Given the description of an element on the screen output the (x, y) to click on. 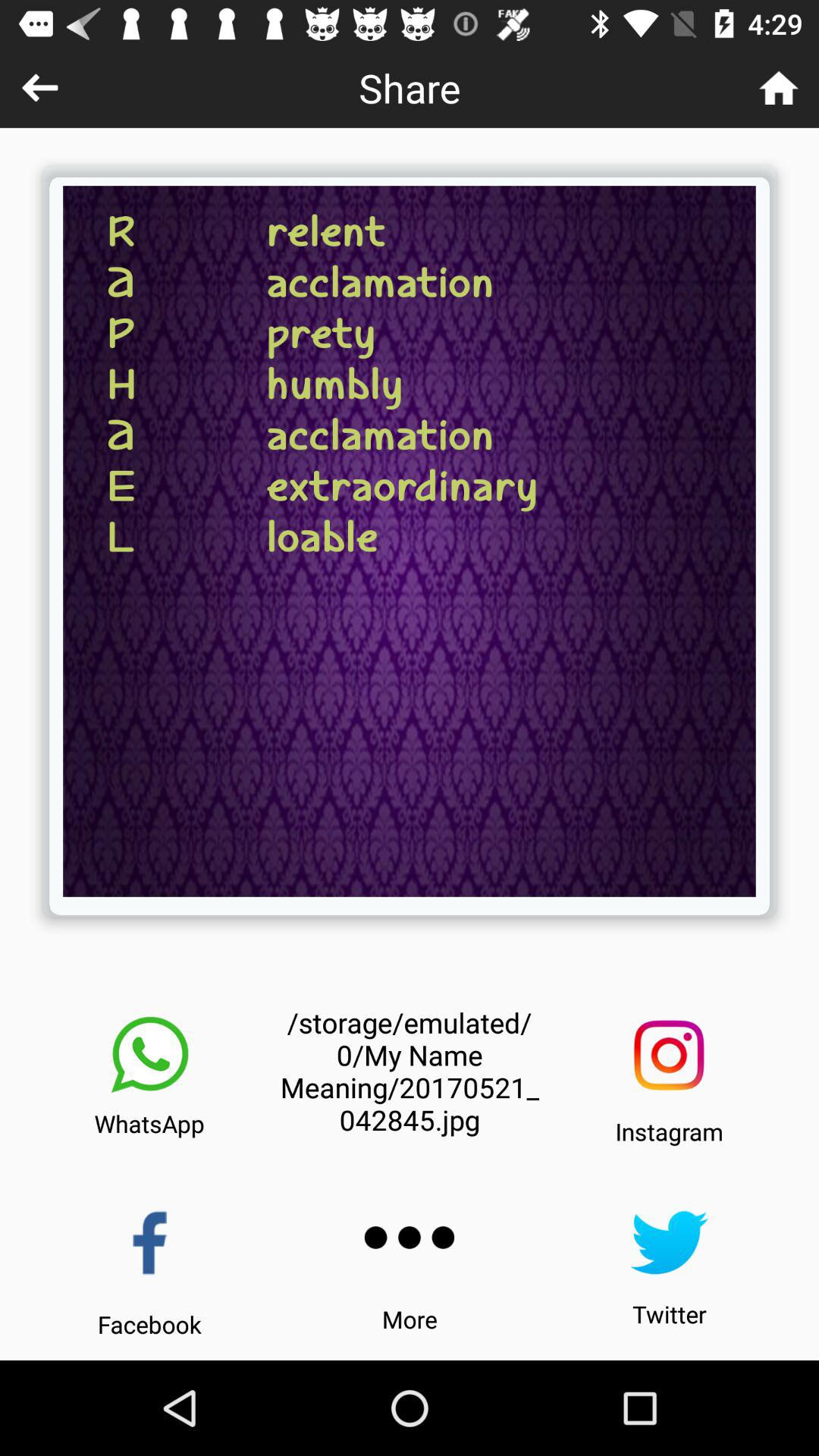
go back (39, 87)
